Given the description of an element on the screen output the (x, y) to click on. 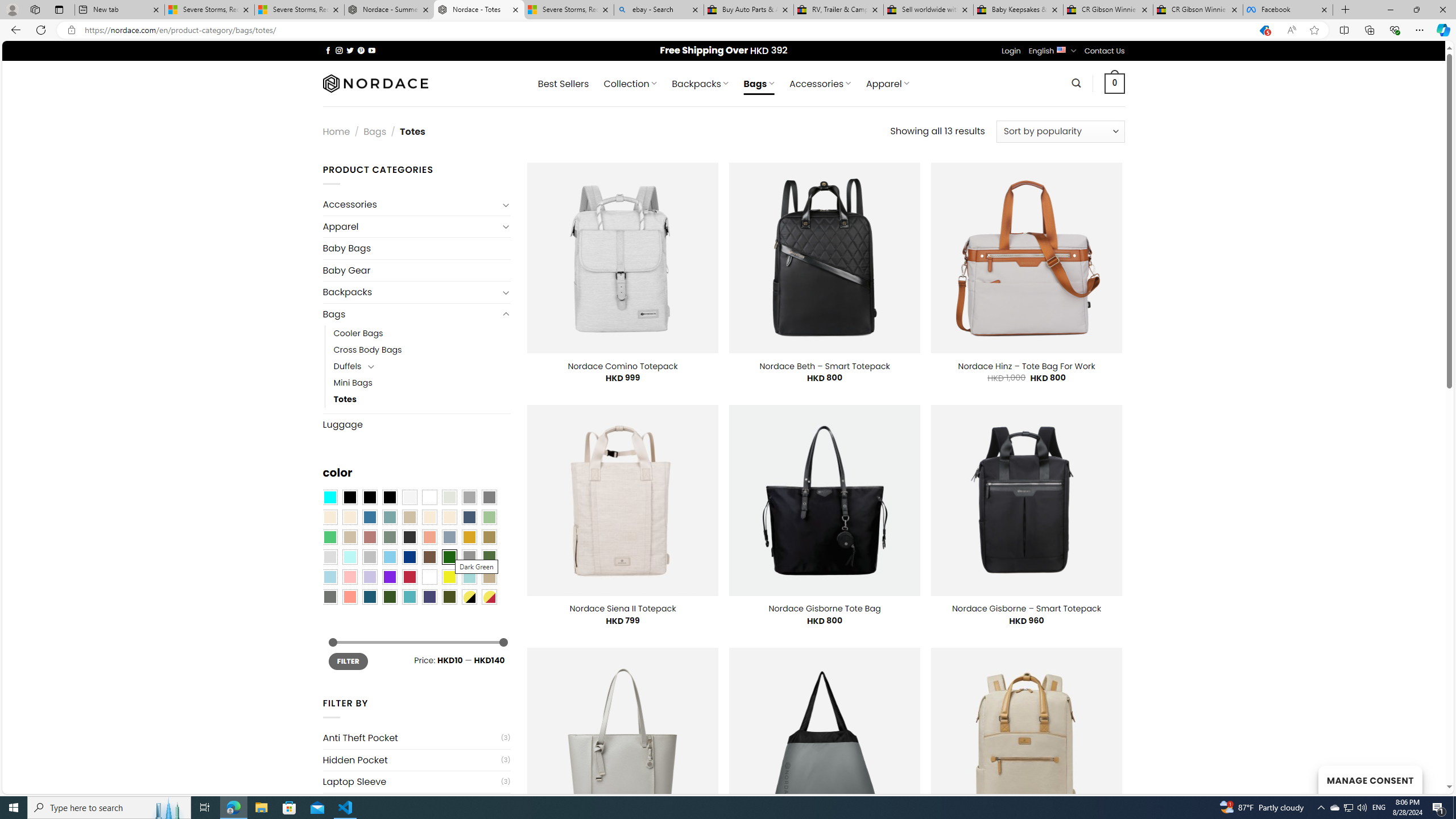
Totes (422, 398)
Gold (468, 536)
Green (488, 557)
Light Taupe (349, 536)
All Gray (488, 497)
White (429, 577)
English (1061, 49)
All Black (349, 497)
Capri Blue (369, 596)
 Best Sellers (563, 83)
